Given the description of an element on the screen output the (x, y) to click on. 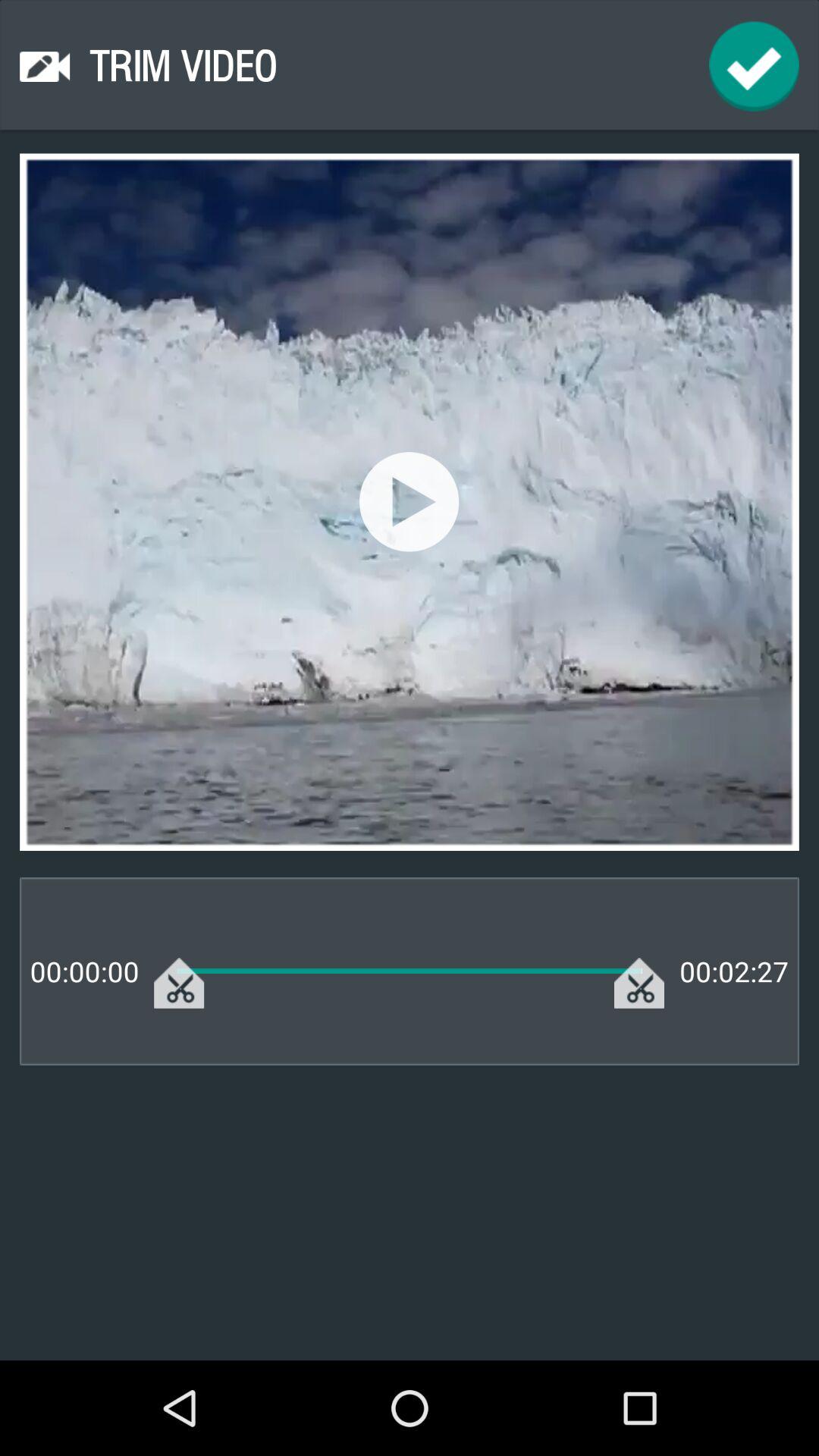
continue (754, 66)
